Given the description of an element on the screen output the (x, y) to click on. 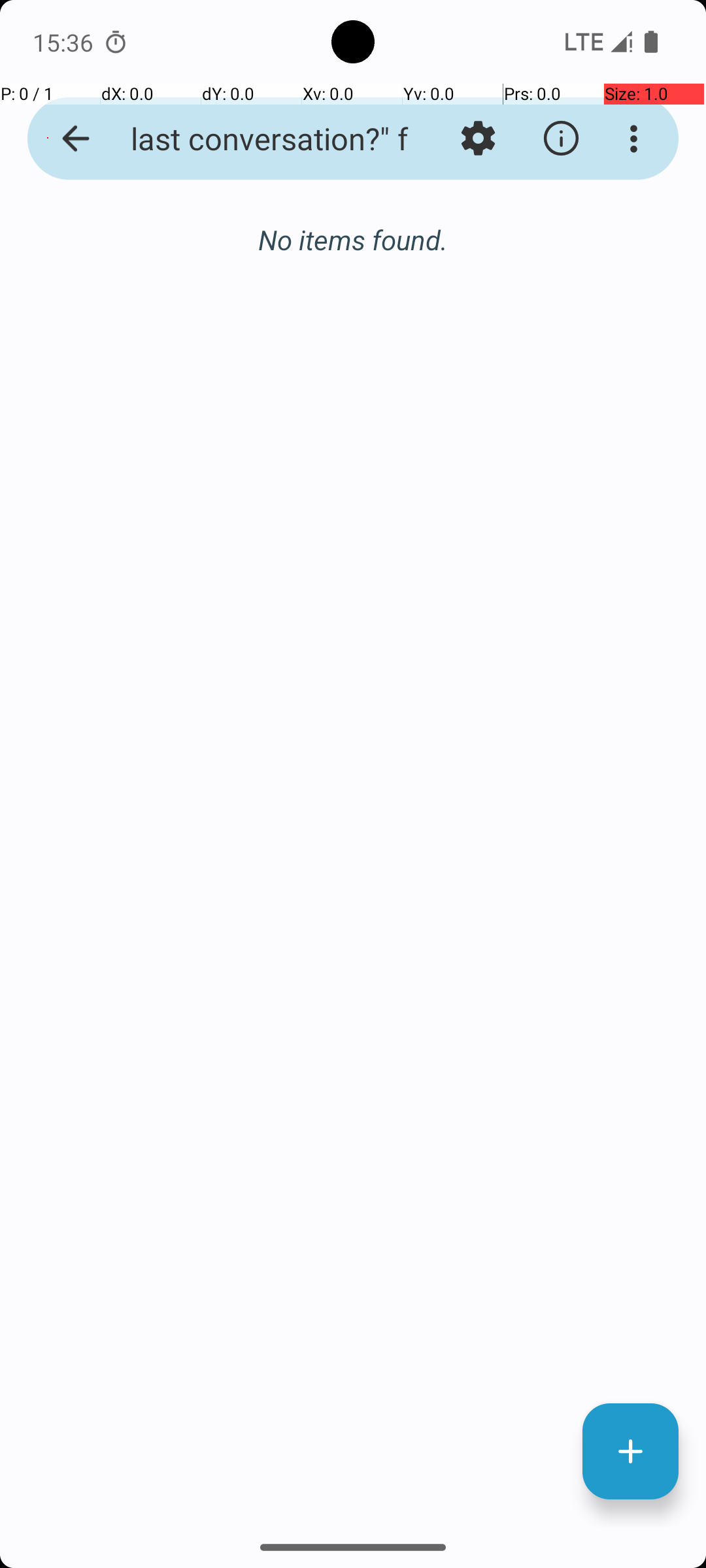
message"Hey Lily, do you remember our last conversation?" from Lily Element type: android.widget.EditText (252, 138)
Lily Alves Element type: android.widget.TextView (408, 237)
